Given the description of an element on the screen output the (x, y) to click on. 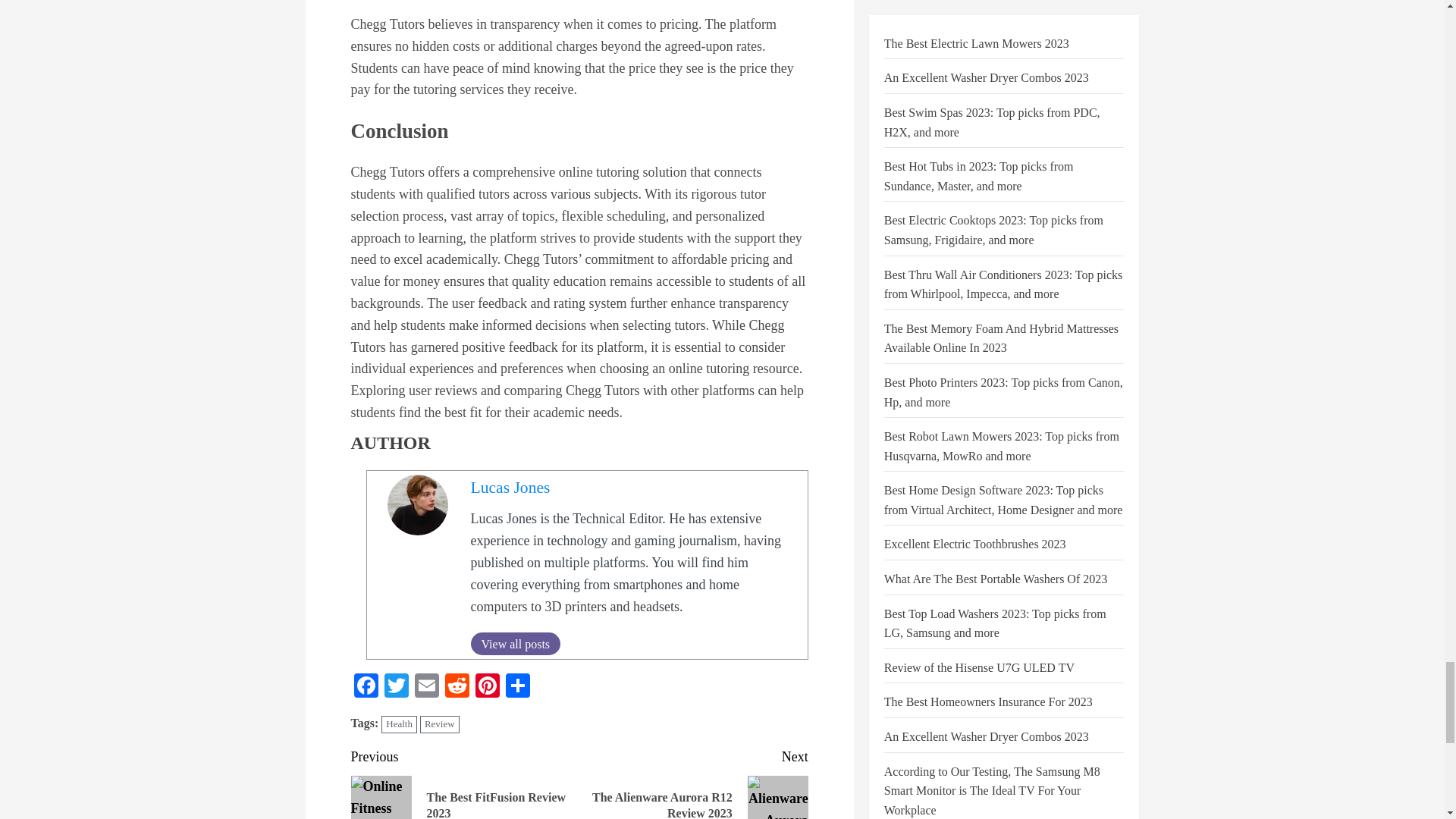
Twitter (395, 687)
View all posts (515, 643)
Twitter (395, 687)
Lucas Jones (510, 487)
Pinterest (486, 687)
Share (517, 687)
Reddit (456, 687)
View all posts (515, 643)
Reddit (456, 687)
Health (398, 724)
Email (425, 687)
Lucas Jones (510, 487)
Pinterest (486, 687)
Email (425, 687)
Facebook (365, 687)
